Given the description of an element on the screen output the (x, y) to click on. 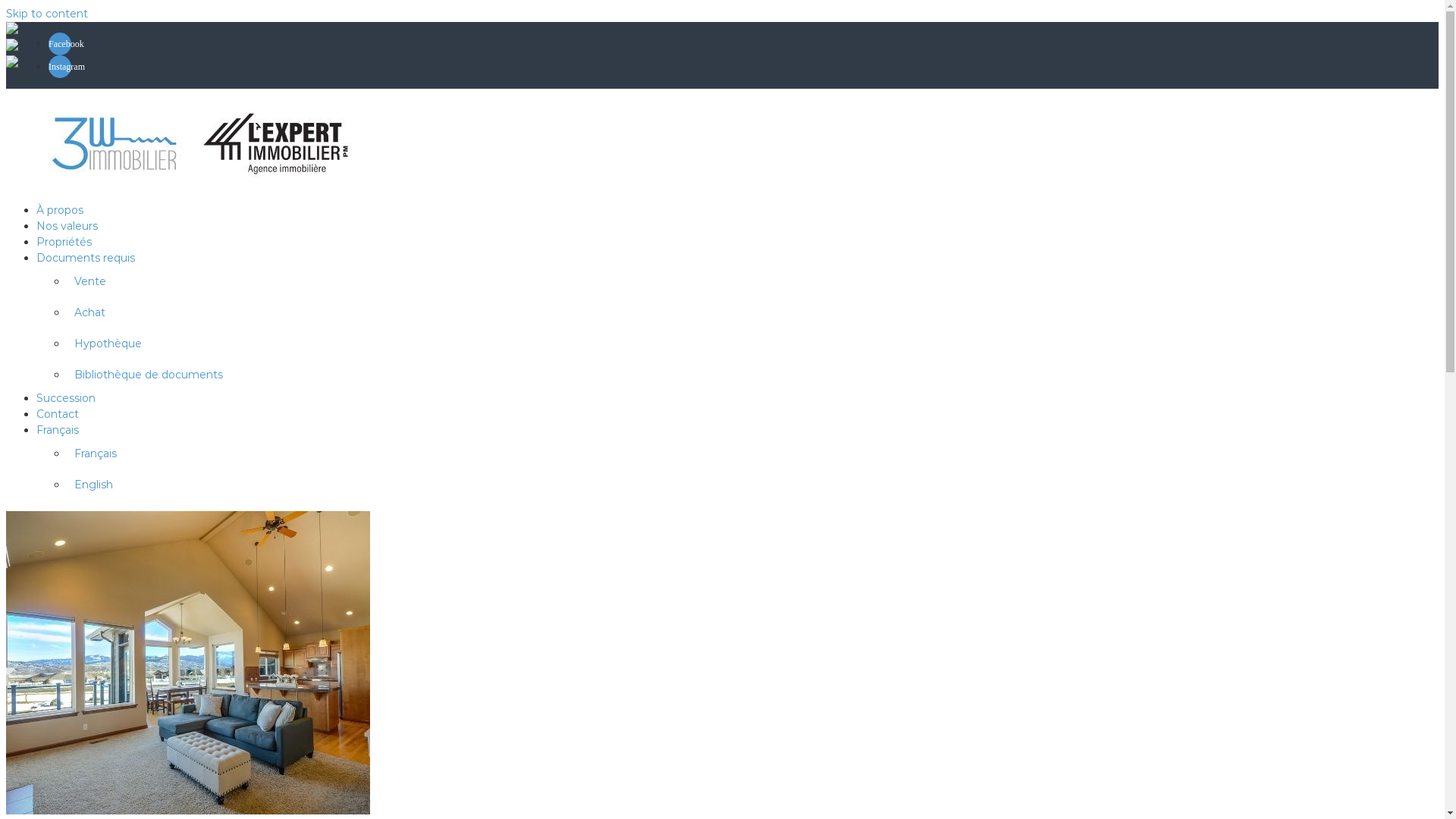
Instagram Element type: text (59, 66)
Succession Element type: text (65, 397)
Nos valeurs Element type: text (66, 225)
Achat Element type: text (89, 312)
Skip to content Element type: text (46, 13)
Contact Element type: text (57, 413)
Documents requis Element type: text (85, 257)
Facebook Element type: text (59, 43)
English Element type: text (93, 484)
Vente Element type: text (90, 281)
